Given the description of an element on the screen output the (x, y) to click on. 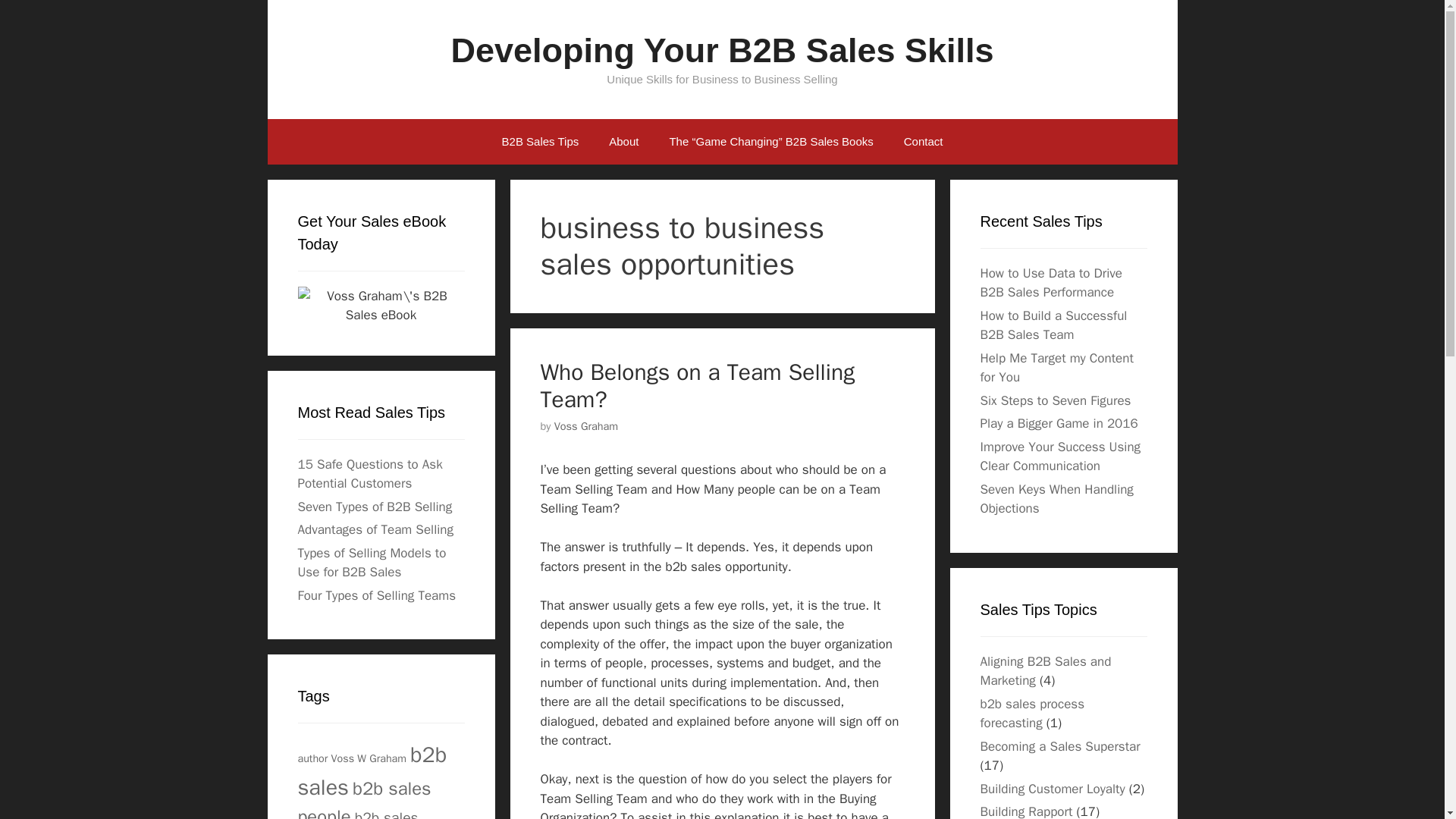
15 Safe Questions to Ask Potential Customers (369, 474)
About (623, 140)
b2b sales people (363, 798)
View all posts by Voss Graham (586, 426)
author Voss W Graham (351, 757)
b2b sales (371, 770)
Who Belongs on a Team Selling Team? (697, 385)
Seven Types of B2B Selling (374, 506)
b2b sales person (357, 813)
Voss Graham (586, 426)
Advantages of Team Selling (374, 529)
Contact (923, 140)
Types of Selling Models to Use for B2B Sales (371, 561)
Four Types of Selling Teams (376, 594)
Advantages of Team Selling (374, 529)
